Given the description of an element on the screen output the (x, y) to click on. 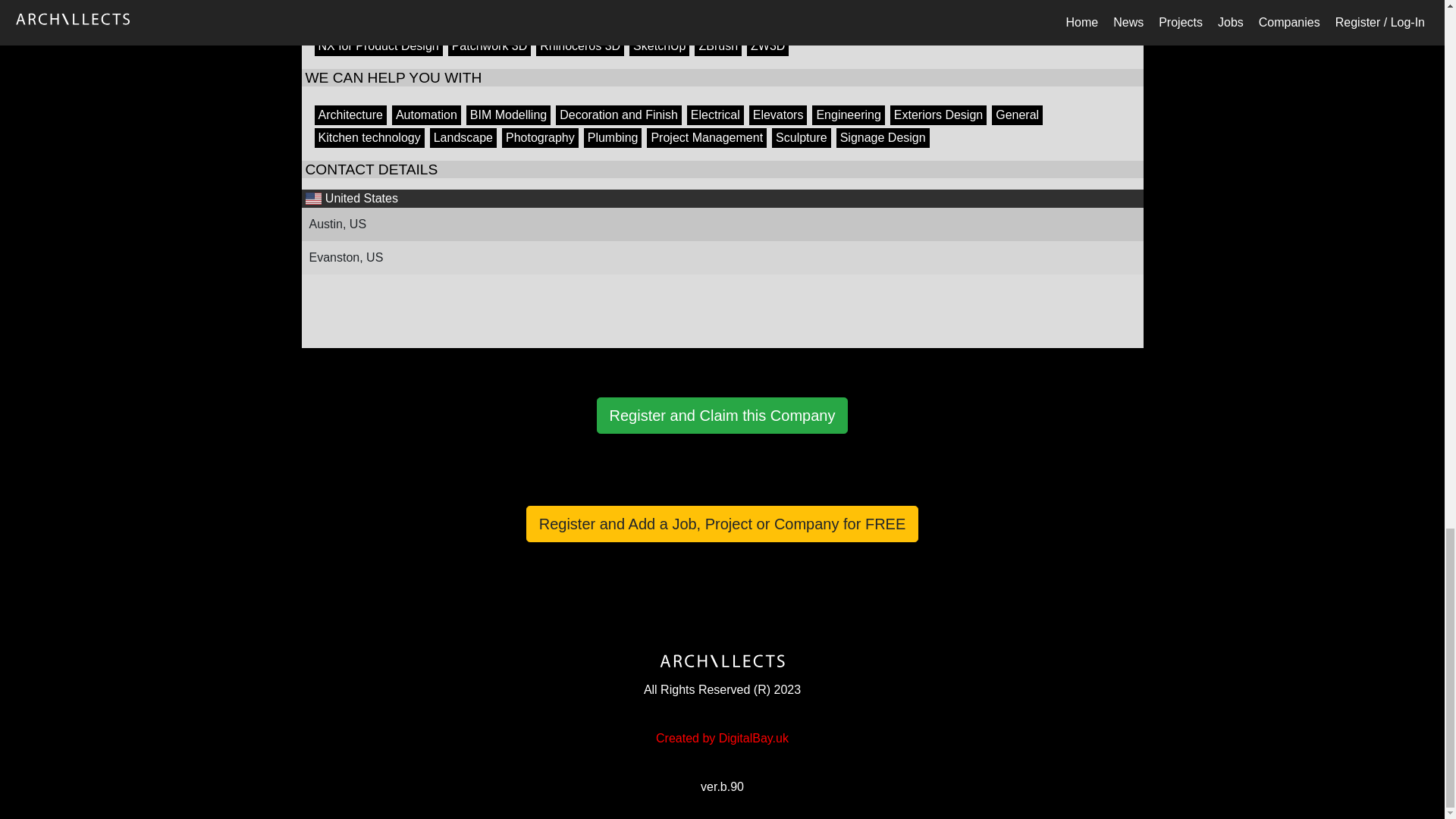
Created by DigitalBay.uk (722, 738)
Register and Add a Job, Project or Company for FREE (721, 524)
Register and Claim this Company (722, 415)
